Given the description of an element on the screen output the (x, y) to click on. 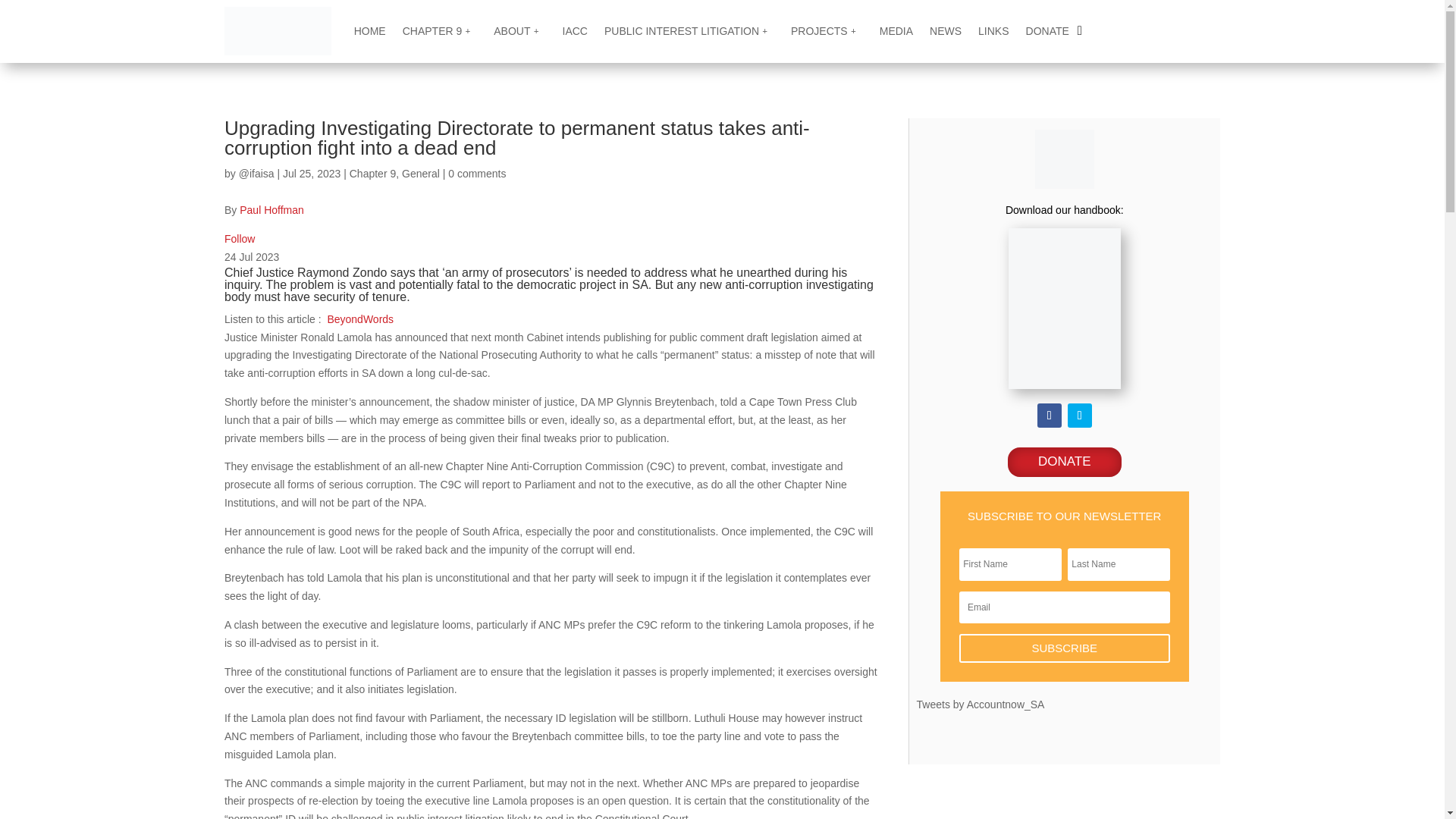
Chapter 9 (372, 173)
PROJECTS (826, 30)
Paul Hoffman (272, 209)
General (420, 173)
ABOUT (518, 30)
CHAPTER 9 (440, 30)
0 comments (476, 173)
PUBLIC INTEREST LITIGATION (689, 30)
